Given the description of an element on the screen output the (x, y) to click on. 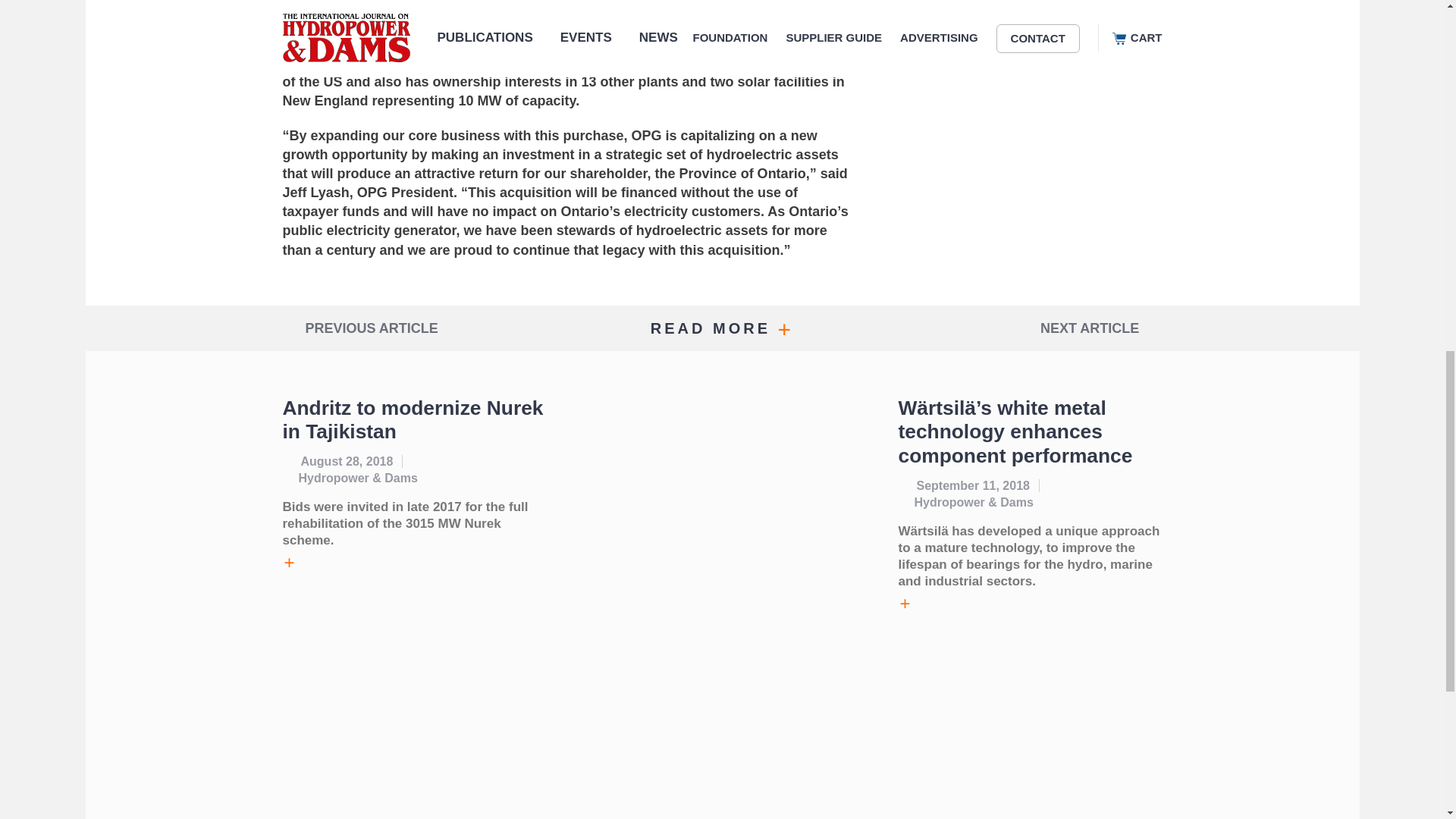
Back to Top (1420, 60)
PREVIOUS ARTICLE (428, 328)
NEXT ARTICLE (1015, 328)
Andritz to modernize Nurek in Tajikistan (412, 419)
